Given the description of an element on the screen output the (x, y) to click on. 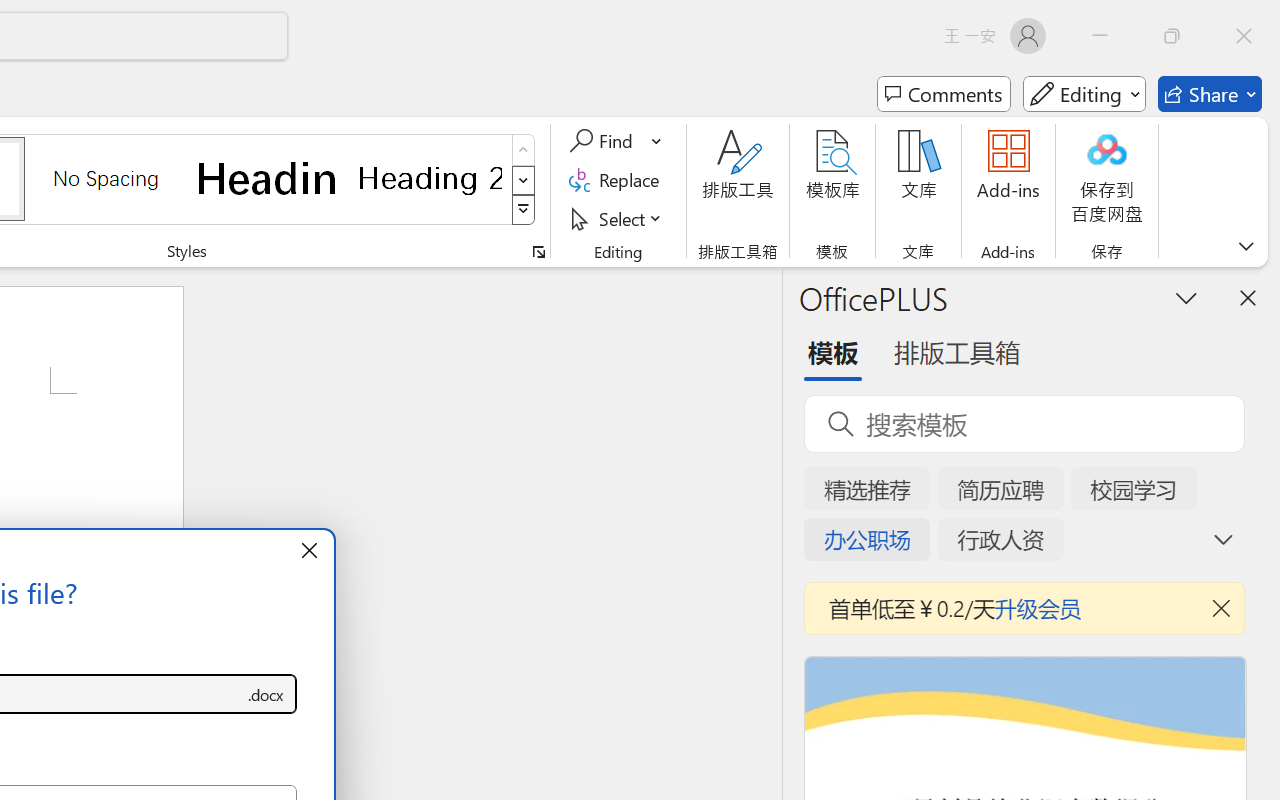
Class: NetUIImage (523, 210)
Find (616, 141)
Heading 1 (267, 178)
Close (1244, 36)
Comments (943, 94)
